Given the description of an element on the screen output the (x, y) to click on. 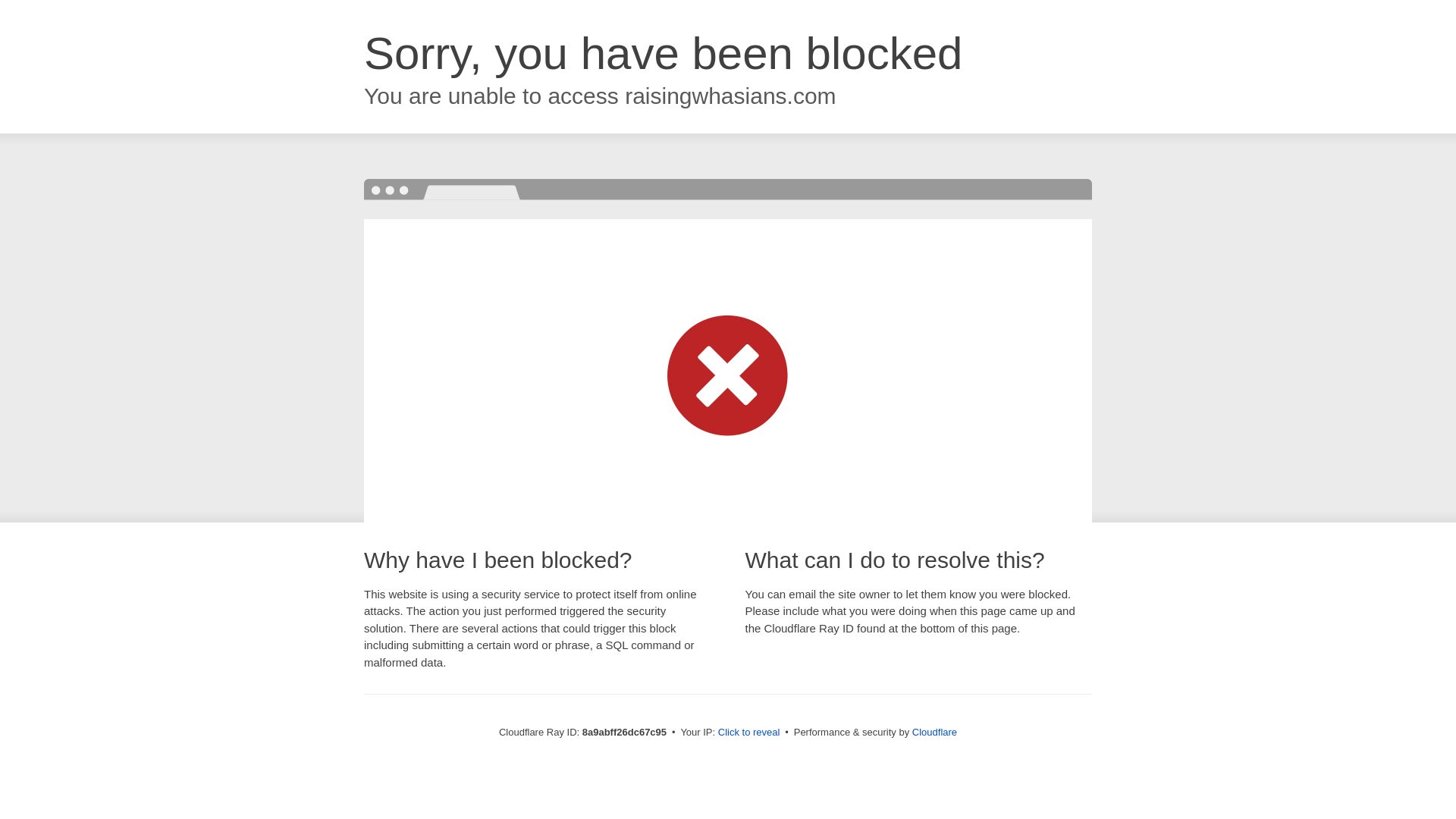
Cloudflare (934, 731)
Click to reveal (748, 732)
